Given the description of an element on the screen output the (x, y) to click on. 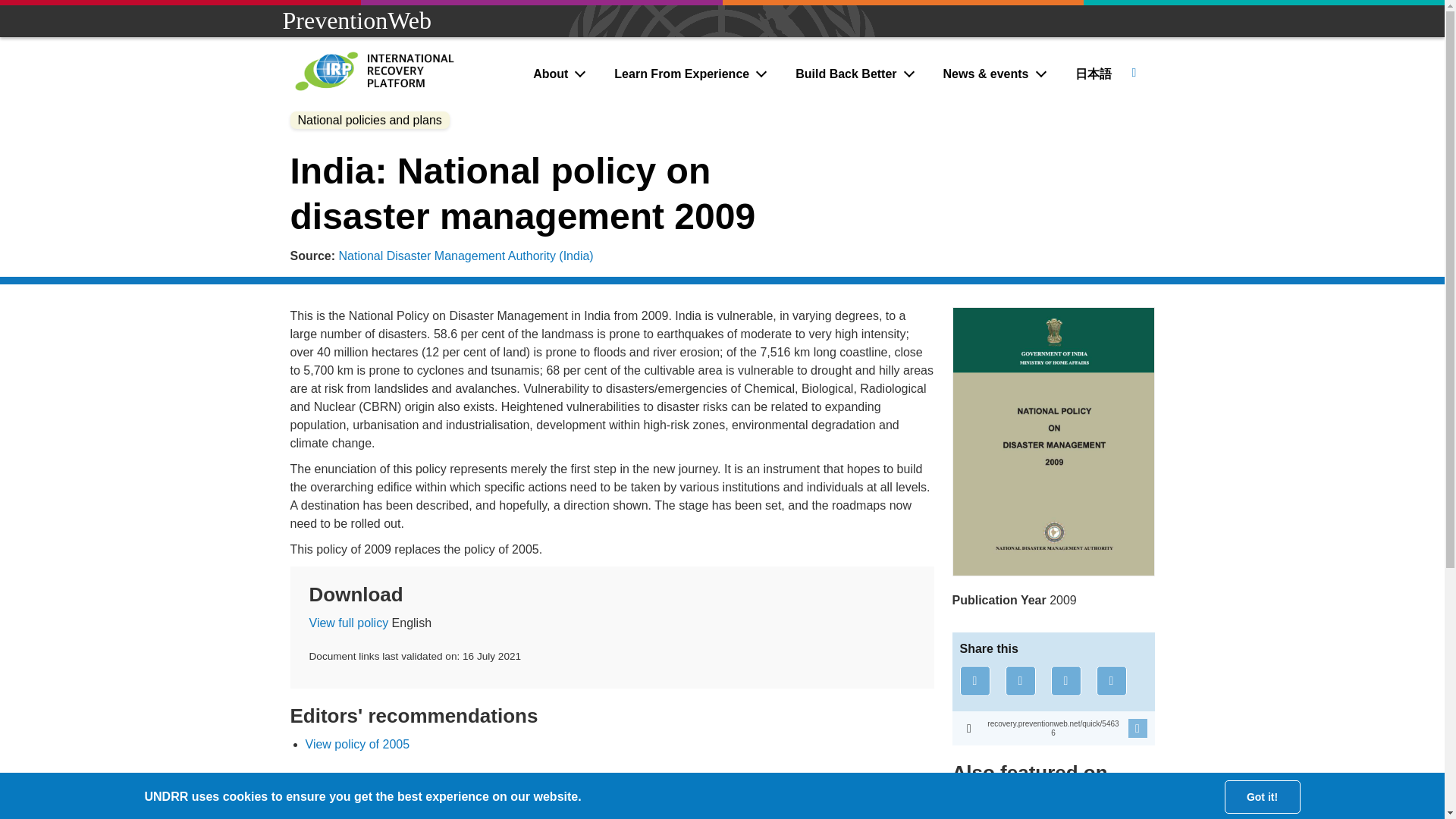
Share on Twitter (1020, 680)
Learn From Experience (692, 73)
Share on Facebook (974, 680)
Build Back Better (856, 73)
Share on LinkedIn (1066, 680)
About (560, 73)
Copy to Clipboard (1053, 728)
Share via Email (1111, 680)
